Given the description of an element on the screen output the (x, y) to click on. 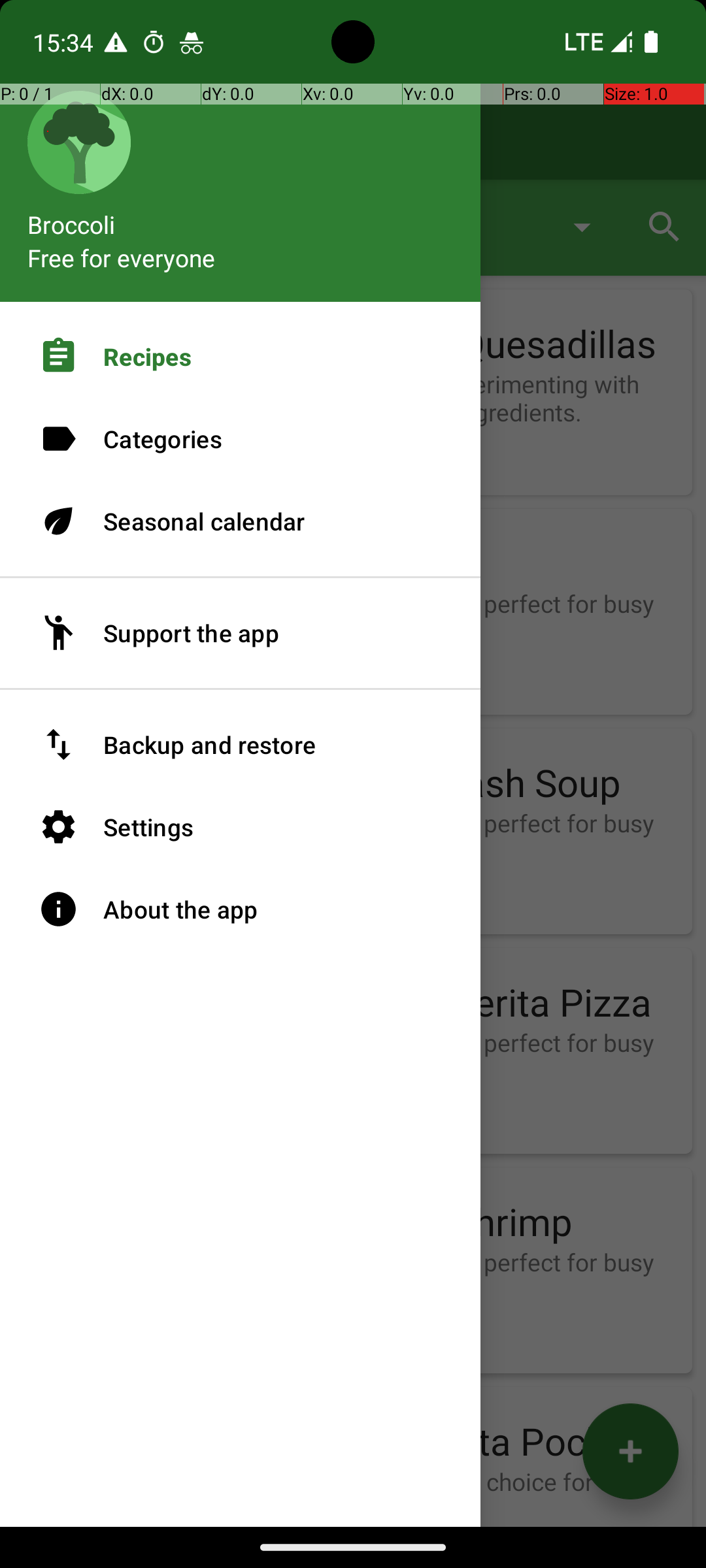
Free for everyone Element type: android.widget.TextView (121, 257)
Seasonal calendar Element type: android.widget.CheckedTextView (239, 521)
Support the app Element type: android.widget.CheckedTextView (239, 632)
Backup and restore Element type: android.widget.CheckedTextView (239, 744)
About the app Element type: android.widget.CheckedTextView (239, 909)
